Given the description of an element on the screen output the (x, y) to click on. 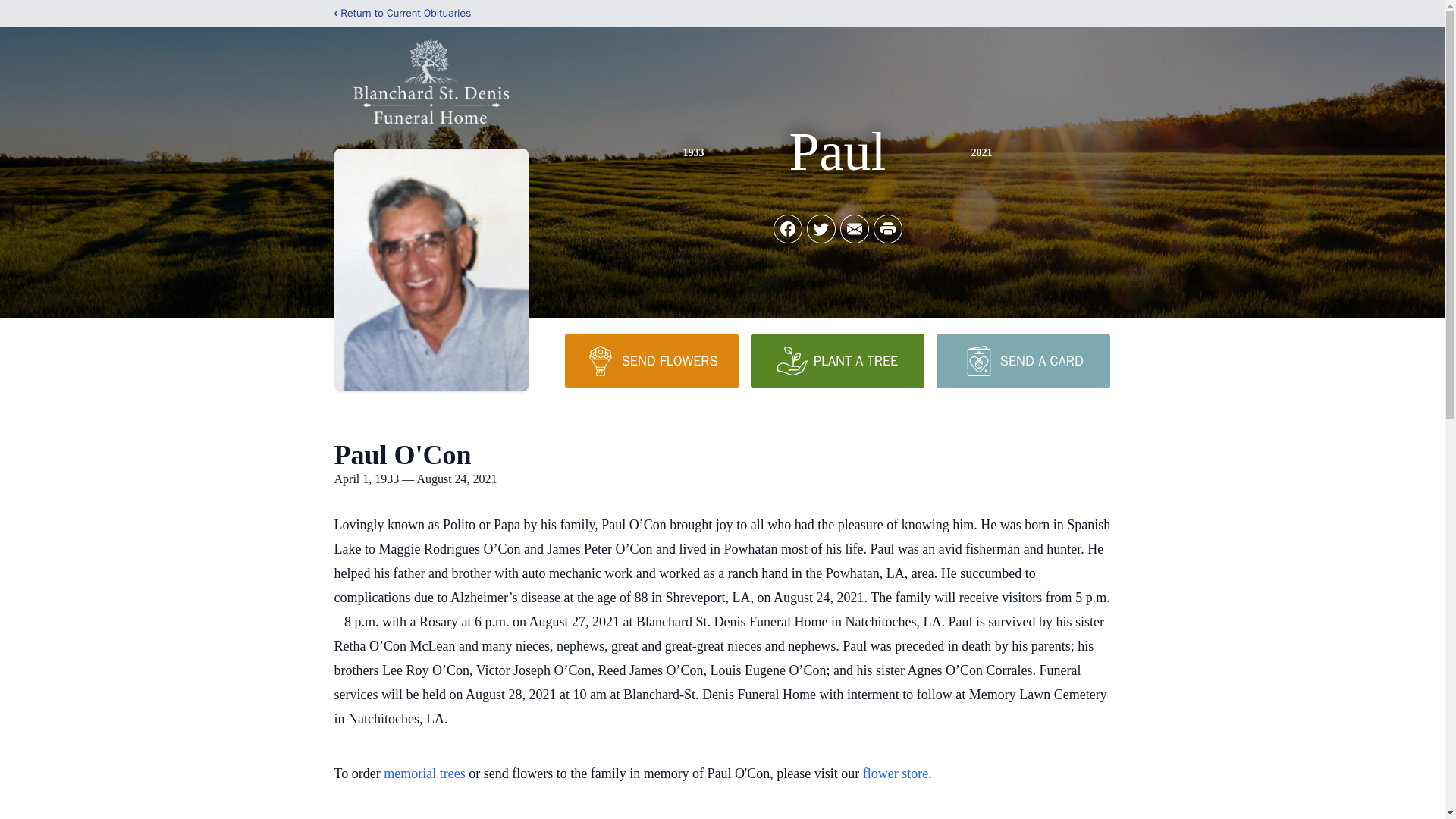
PLANT A TREE (837, 360)
flower store (895, 773)
memorial trees (424, 773)
SEND FLOWERS (651, 360)
SEND A CARD (1022, 360)
